Given the description of an element on the screen output the (x, y) to click on. 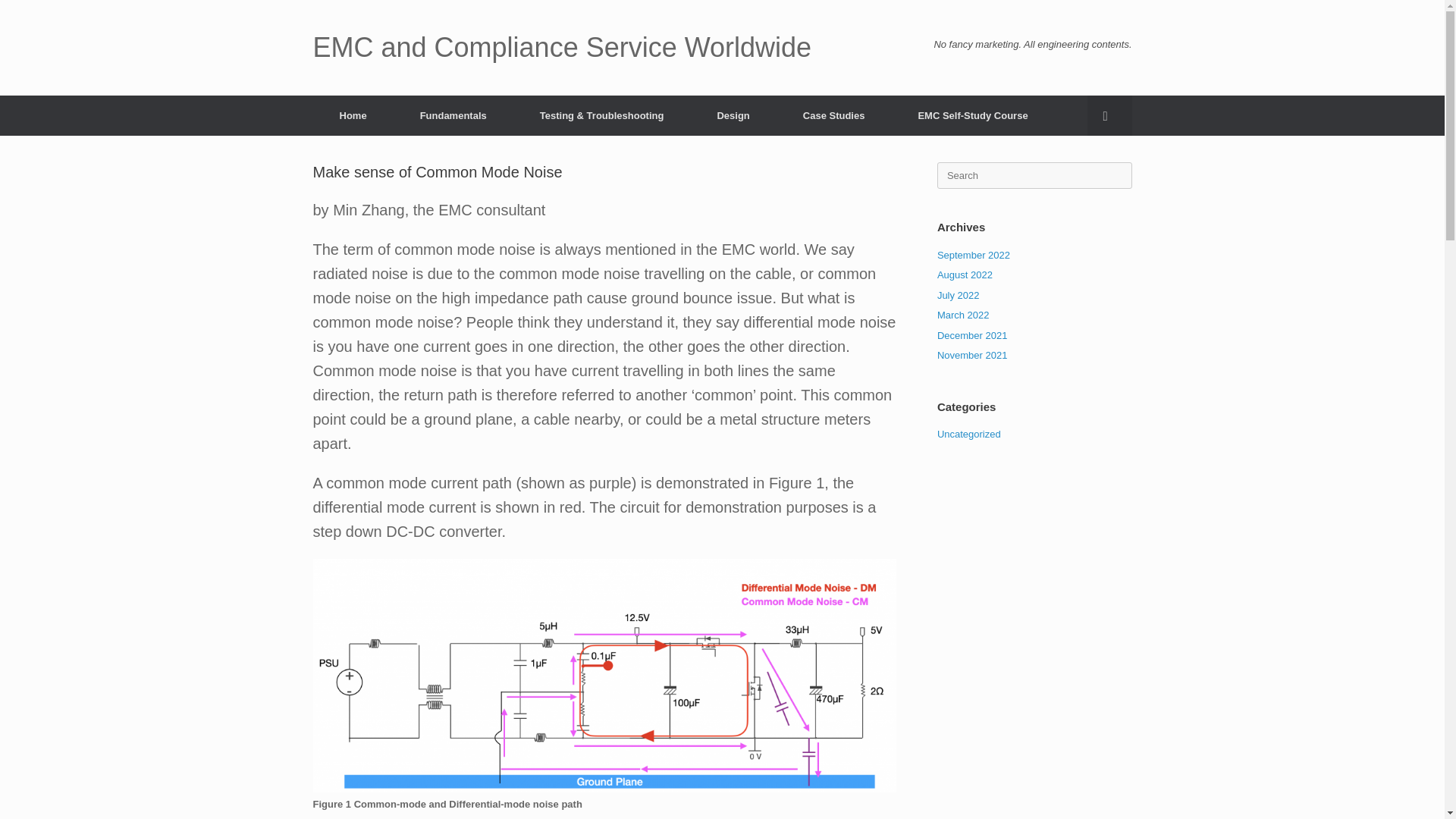
August 2022 (964, 274)
EMC Self-Study Course (972, 115)
Uncategorized (969, 433)
November 2021 (972, 355)
EMC and Compliance Service Worldwide (561, 47)
September 2022 (973, 254)
Home (353, 115)
Design (733, 115)
Fundamentals (453, 115)
EMC and Compliance Service Worldwide (561, 47)
